Given the description of an element on the screen output the (x, y) to click on. 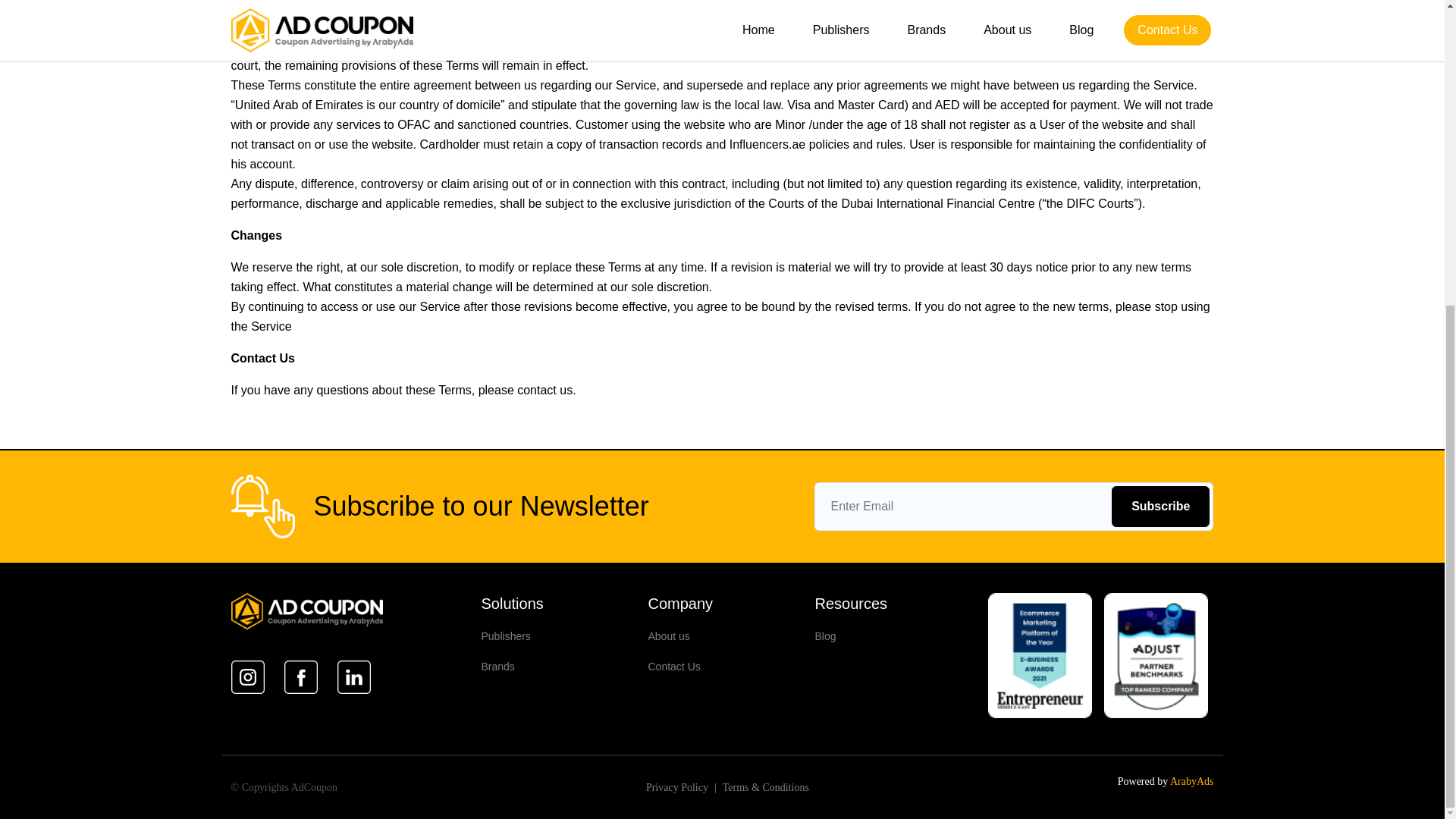
Blog (824, 635)
Publishers (504, 635)
ArabyAds (1192, 781)
contact us (544, 390)
Brands (496, 666)
Solutions (511, 603)
About us (667, 635)
Company (680, 603)
Resources (849, 603)
Privacy Policy (676, 787)
Subscribe (1160, 506)
Subscribe (1160, 506)
Contact Us (673, 666)
